Given the description of an element on the screen output the (x, y) to click on. 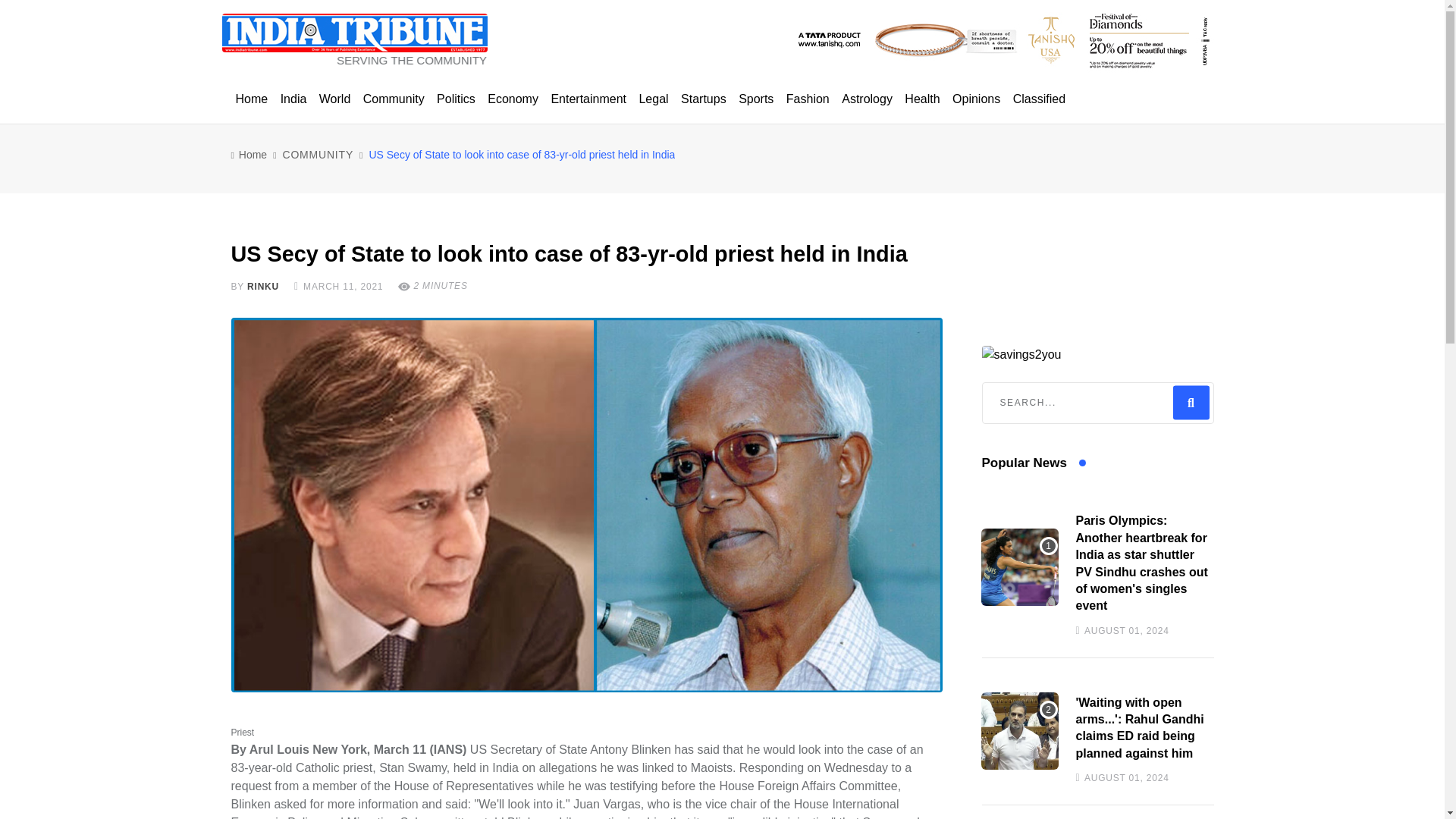
Fashion (807, 98)
Entertainment (588, 98)
Politics (456, 98)
Economy (513, 98)
Community (393, 98)
Classified (1039, 98)
Opinions (975, 98)
Astrology (866, 98)
Startups (703, 98)
Health (921, 98)
Sports (755, 98)
